Given the description of an element on the screen output the (x, y) to click on. 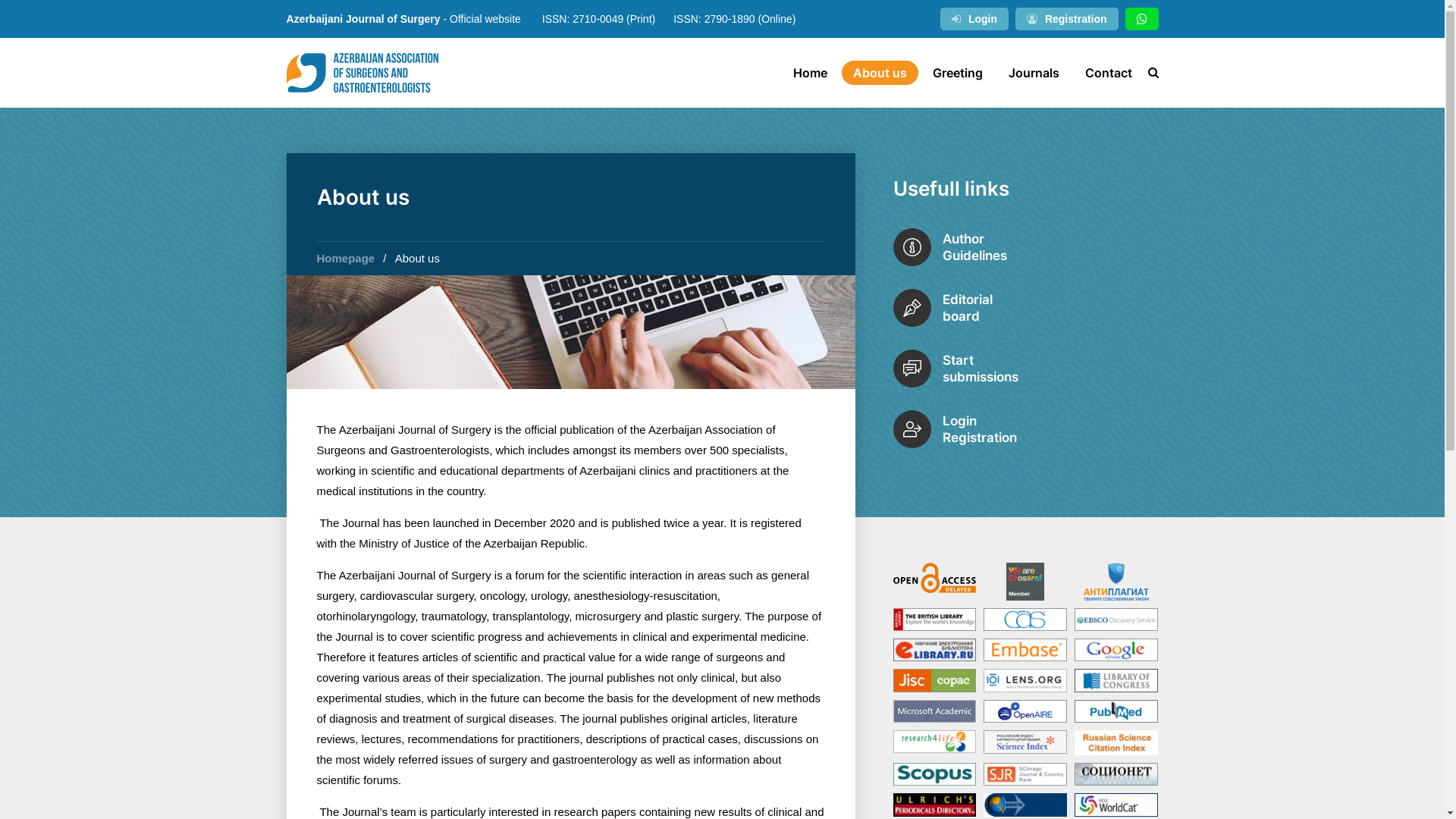
Login Element type: text (974, 18)
Login
Registration Element type: text (1025, 429)
About us Element type: text (879, 72)
Greeting Element type: text (956, 72)
Contact Element type: text (1108, 72)
Homepage Element type: text (345, 257)
Editorial
board Element type: text (1025, 307)
Journals Element type: text (1033, 72)
Registration Element type: text (1066, 18)
Home Element type: text (809, 72)
Start
submissions Element type: text (1025, 368)
Author
Guidelines Element type: text (1025, 247)
